Given the description of an element on the screen output the (x, y) to click on. 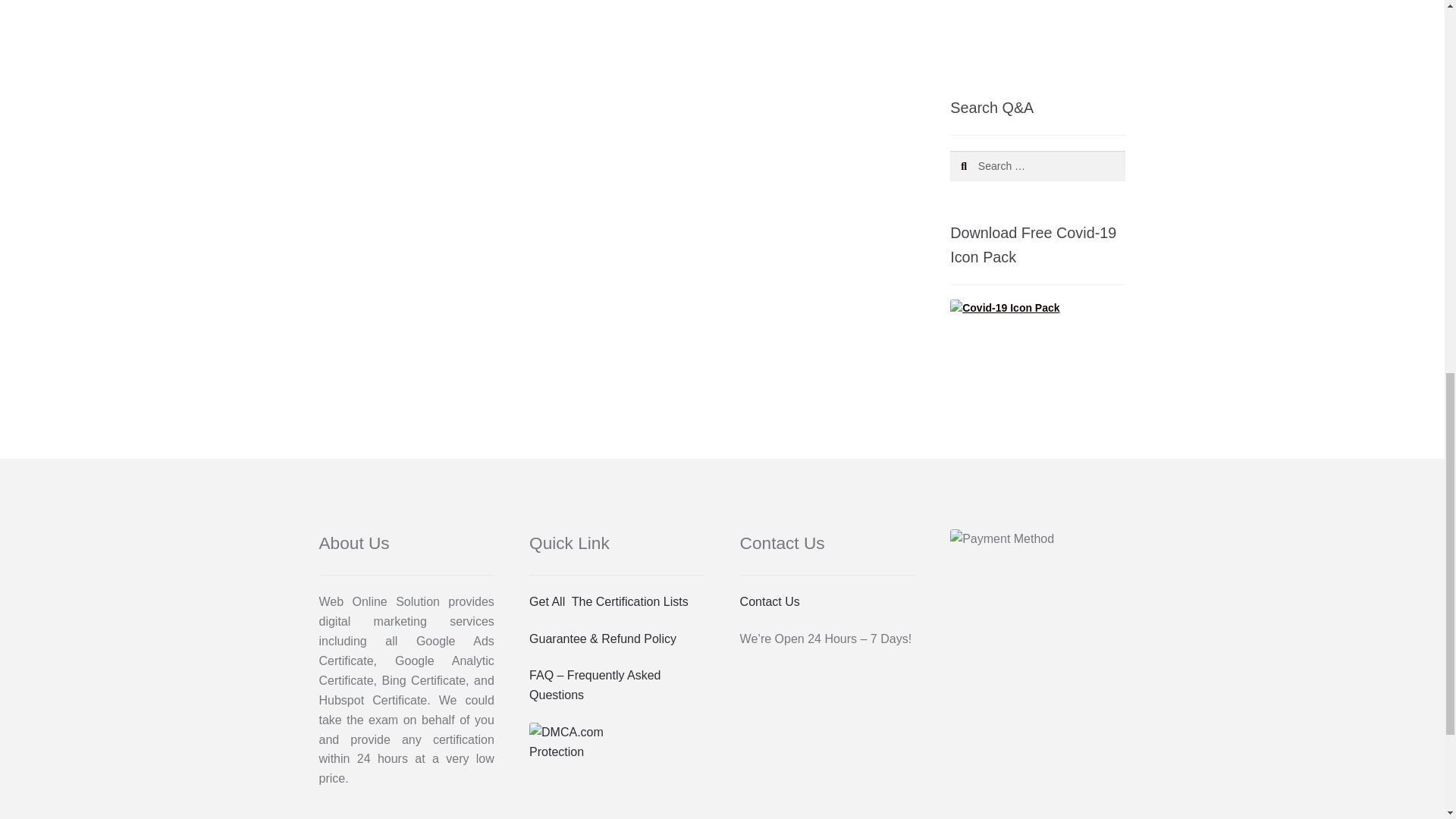
DMCA.com Protection Status (616, 741)
